Given the description of an element on the screen output the (x, y) to click on. 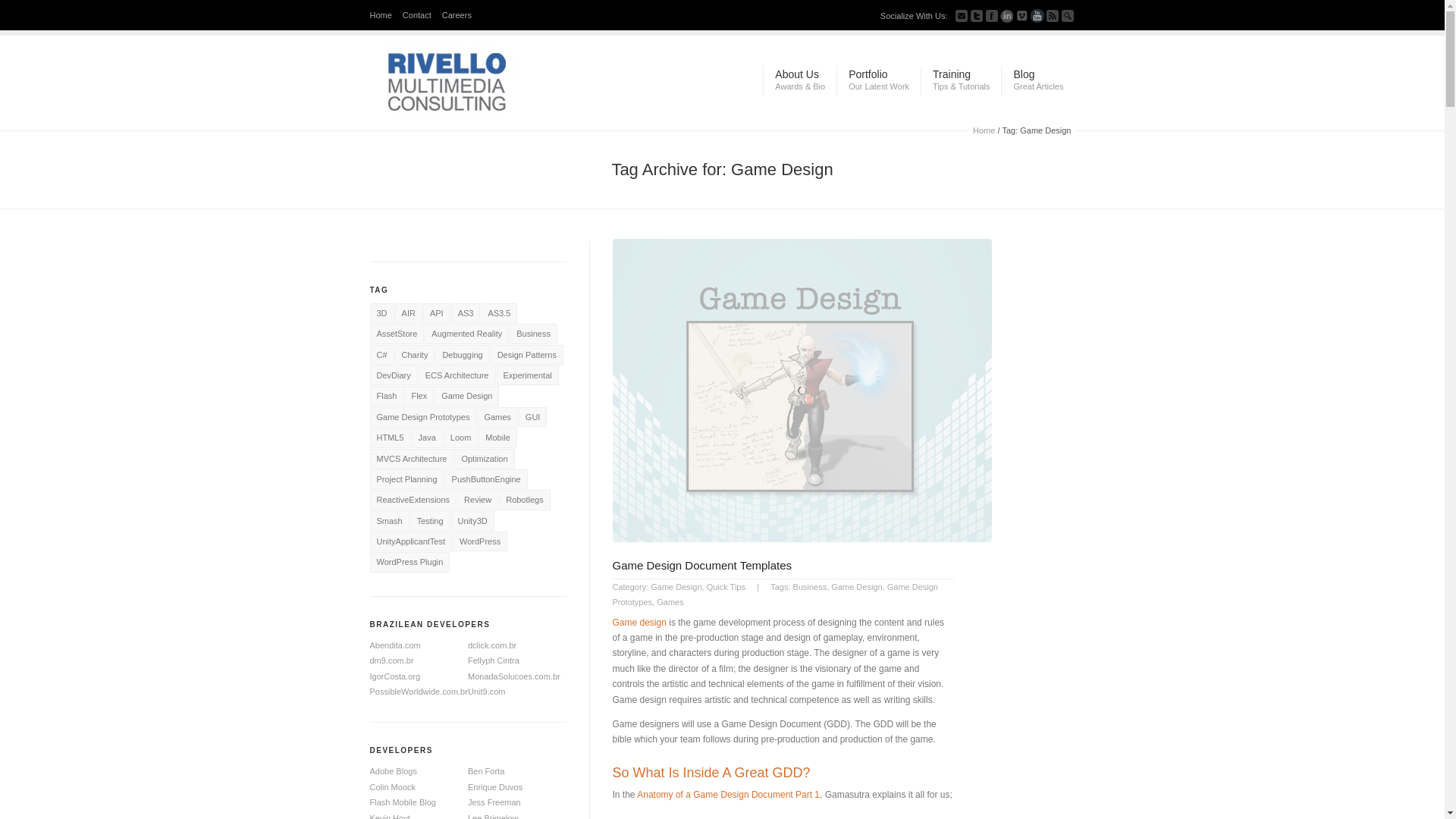
Careers (460, 14)
Permanent Link: Game Design Document Templates (702, 564)
Work with us (460, 14)
Games (669, 601)
Join our Facebook Group (877, 80)
Game Design Document Templates (991, 15)
Search Site (702, 564)
Say hello (1067, 15)
Home (421, 14)
